Given the description of an element on the screen output the (x, y) to click on. 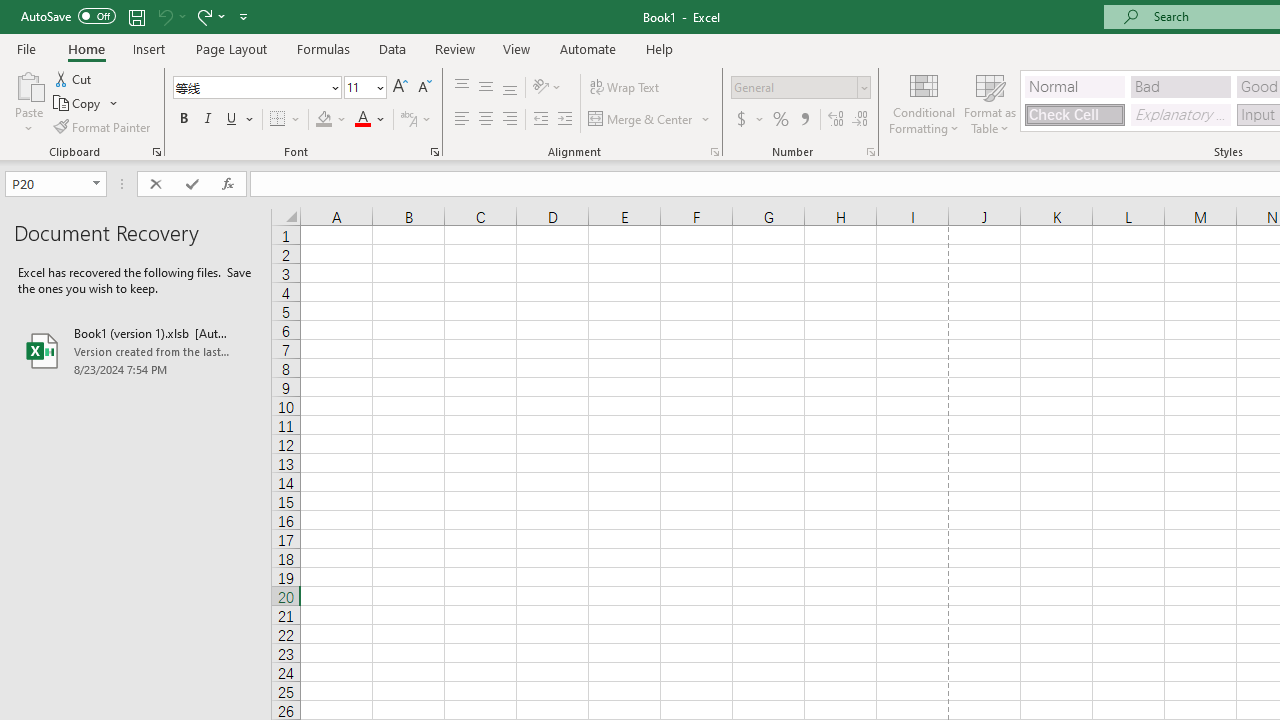
Conditional Formatting (924, 102)
Normal (1074, 86)
File Tab (26, 48)
Accounting Number Format (741, 119)
Check Cell (1074, 114)
More Options (760, 119)
Automate (588, 48)
Formulas (323, 48)
Format Painter (103, 126)
Decrease Font Size (424, 87)
Font (250, 87)
Percent Style (781, 119)
AutoSave (68, 16)
Increase Font Size (399, 87)
Review (454, 48)
